Given the description of an element on the screen output the (x, y) to click on. 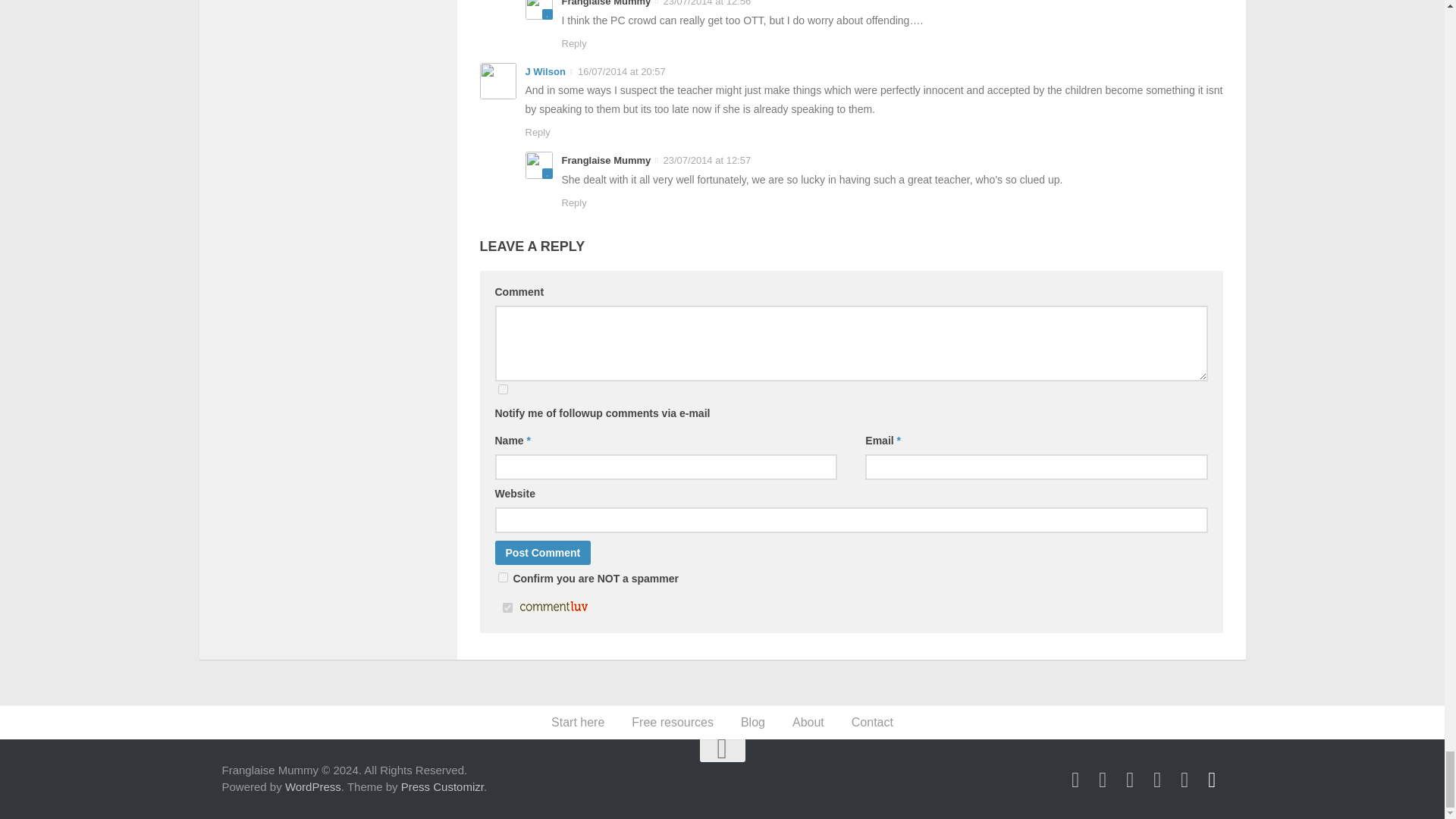
on (506, 607)
Post Comment (543, 552)
subscribe (501, 388)
on (501, 577)
